Given the description of an element on the screen output the (x, y) to click on. 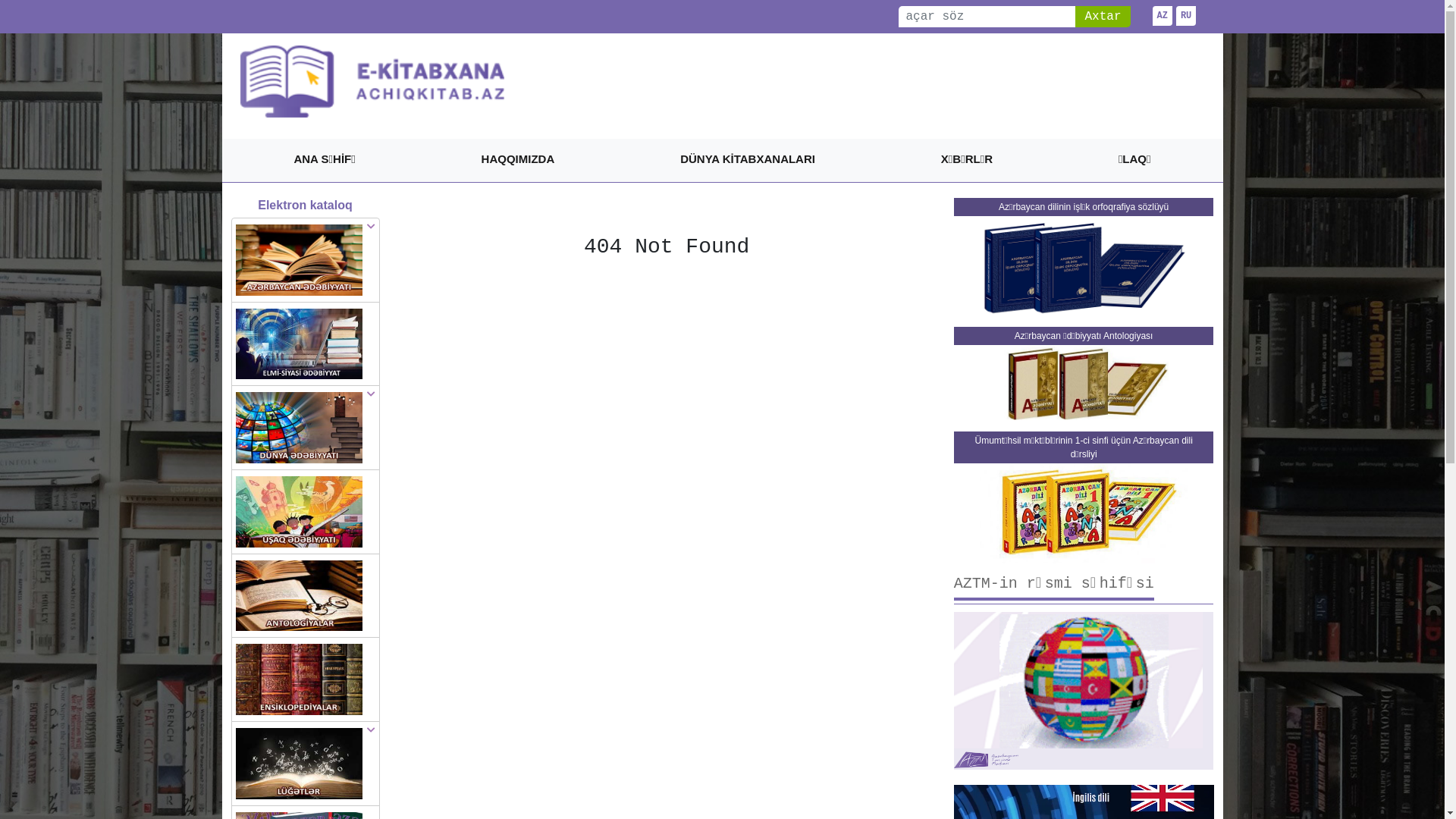
AZ Element type: text (1162, 15)
RU Element type: text (1185, 15)
Axtar Element type: text (1102, 16)
HAQQIMIZDA Element type: text (518, 160)
